Given the description of an element on the screen output the (x, y) to click on. 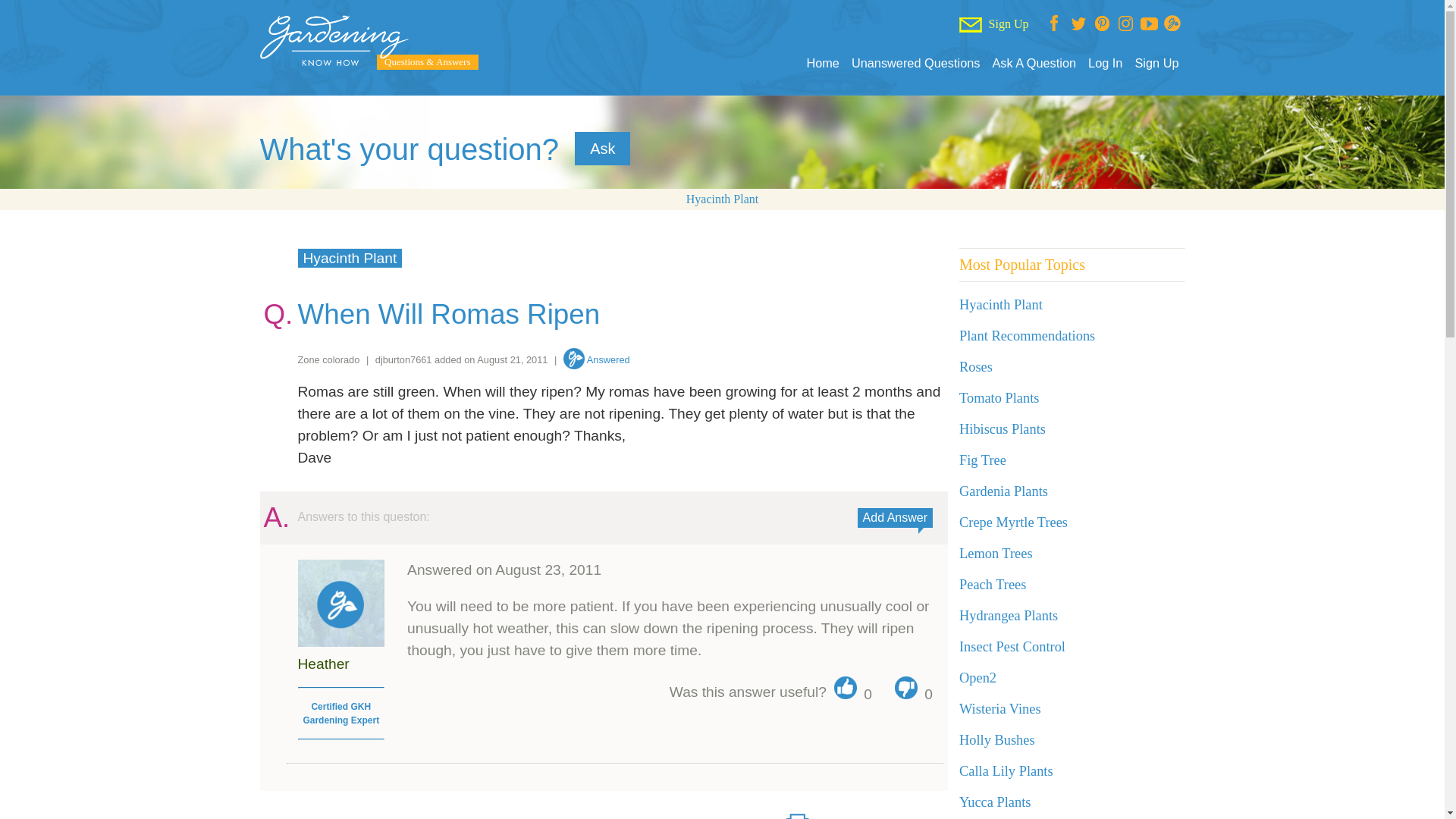
Ask A Question (1033, 62)
Sign Up (1156, 62)
Lemon Trees (995, 553)
Hibiscus Plants (1002, 428)
Fig Tree (982, 459)
Crepe Myrtle Trees (1013, 522)
Answered (596, 359)
Tomato Plants (999, 397)
Hydrangea Plants (1008, 615)
Crepe Myrtle Trees (1013, 522)
Plant Recommendations (1026, 335)
Roses (975, 366)
Gardenia Plants (1003, 491)
Ask (602, 148)
Unanswered Questions (916, 62)
